Given the description of an element on the screen output the (x, y) to click on. 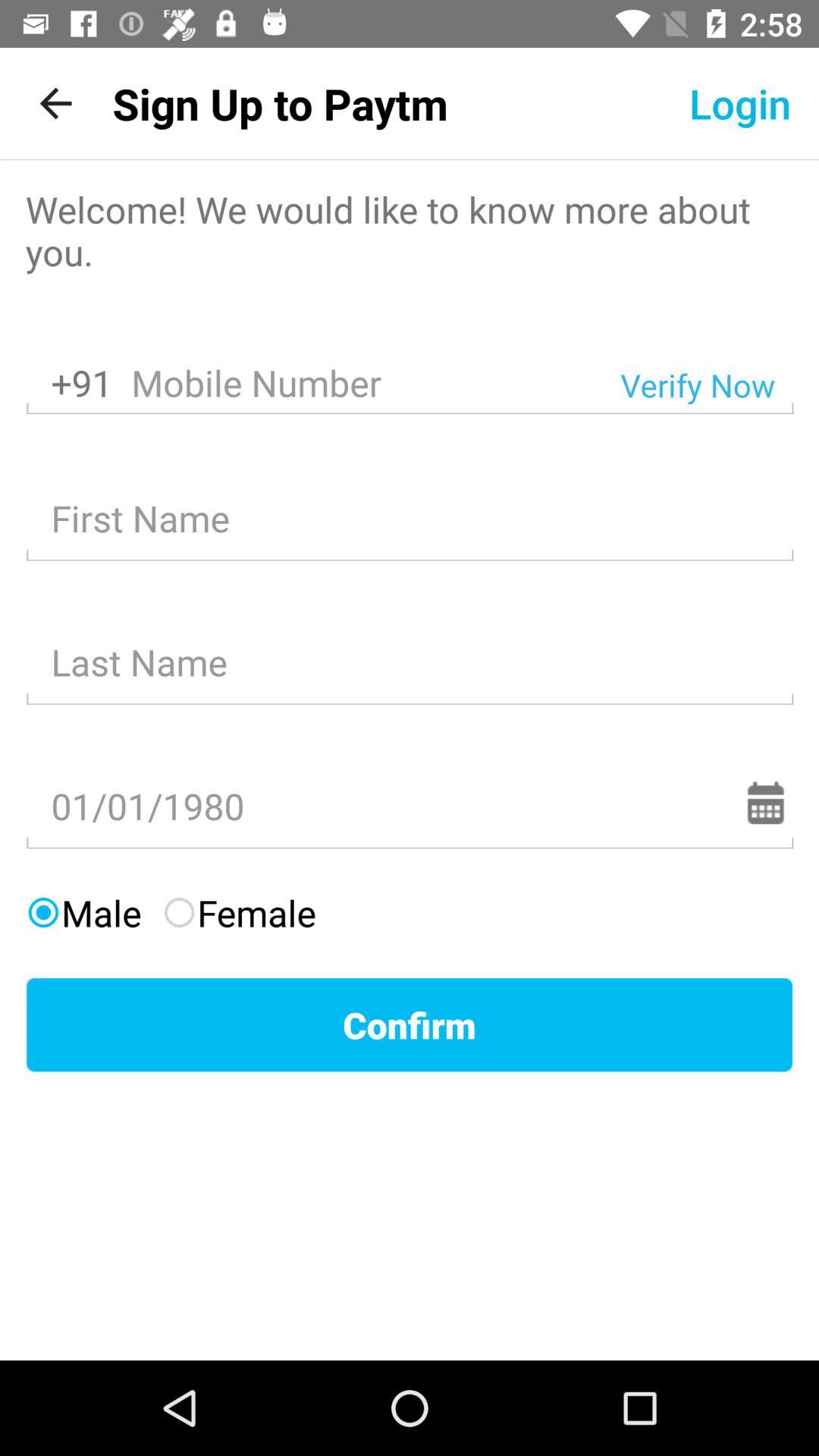
press the item above confirm item (238, 912)
